Given the description of an element on the screen output the (x, y) to click on. 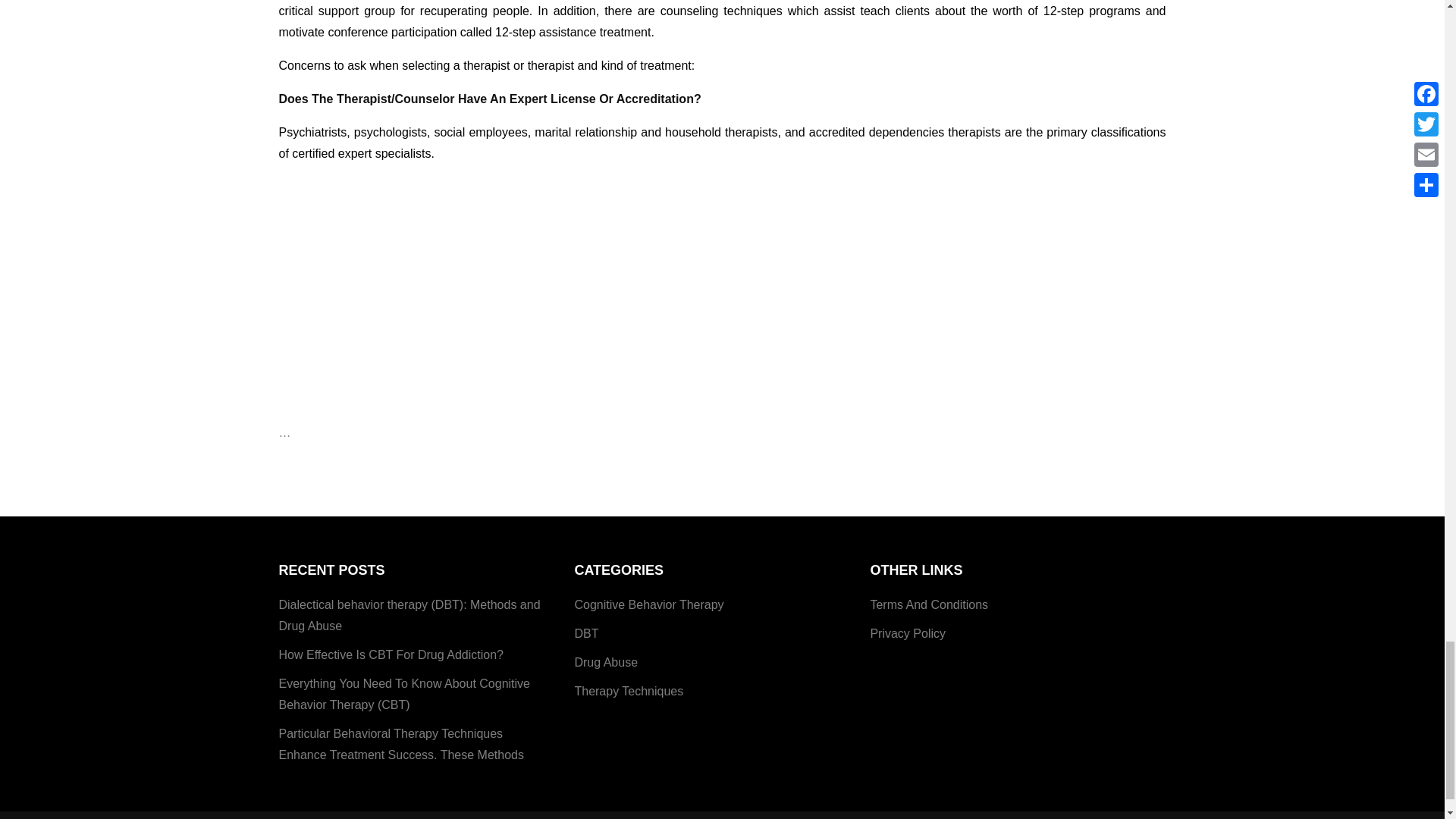
Terms And Conditions (928, 604)
Cognitive Behavior Therapy (648, 604)
Drug Abuse (605, 662)
How Effective Is CBT For Drug Addiction? (391, 654)
Therapy Techniques (627, 690)
DBT (585, 633)
